Given the description of an element on the screen output the (x, y) to click on. 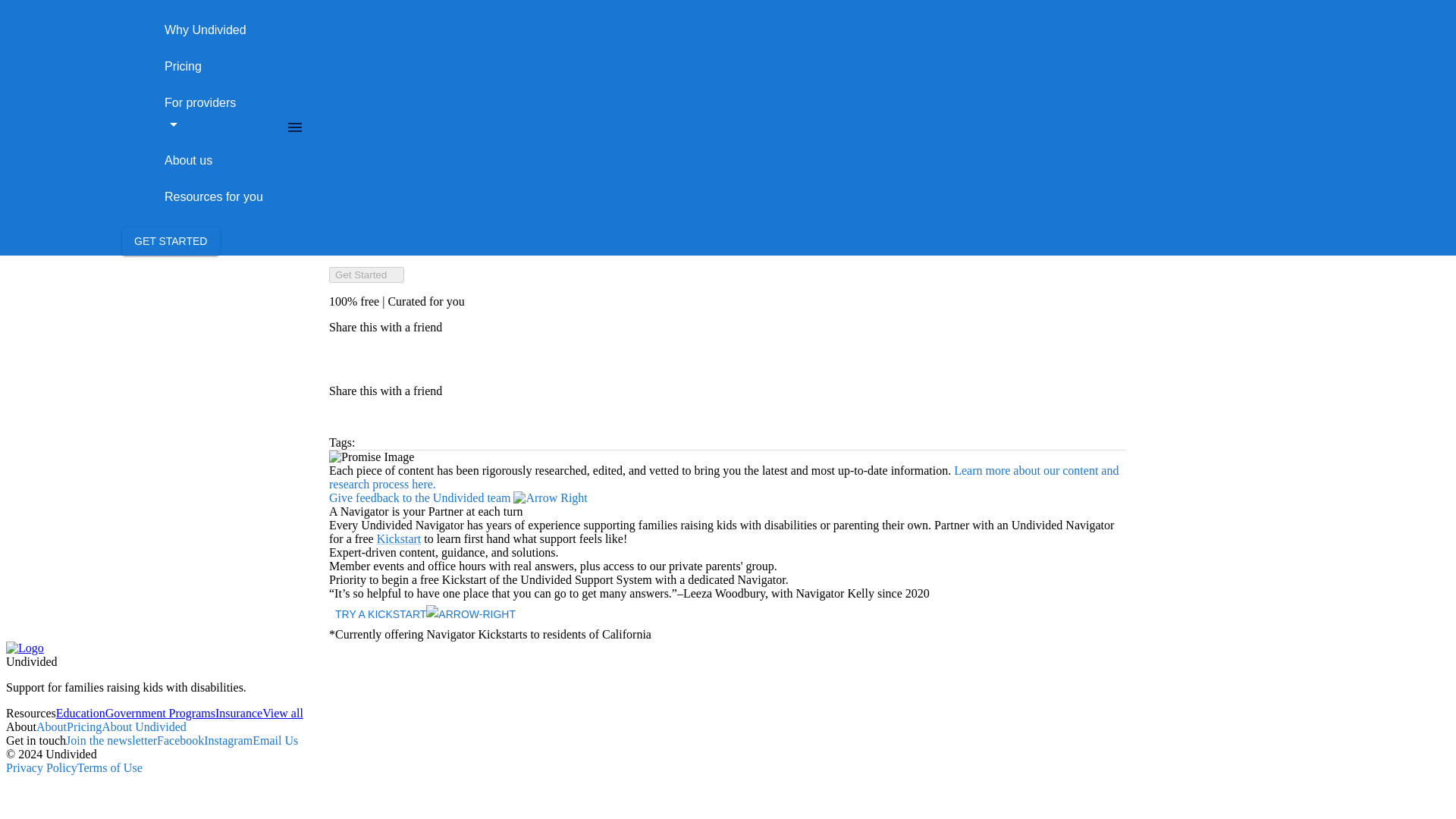
GET STARTED (170, 241)
Why Undivided (205, 30)
View all (282, 712)
TRY A KICKSTART (425, 614)
Pricing (83, 726)
For providers (199, 113)
Get Started (366, 273)
About (51, 726)
About us (188, 160)
Facebook (180, 739)
Government Programs (159, 712)
Join the newsletter (111, 739)
TRY A KICKSTART (425, 612)
Email Us (274, 739)
About Undivided (143, 726)
